Given the description of an element on the screen output the (x, y) to click on. 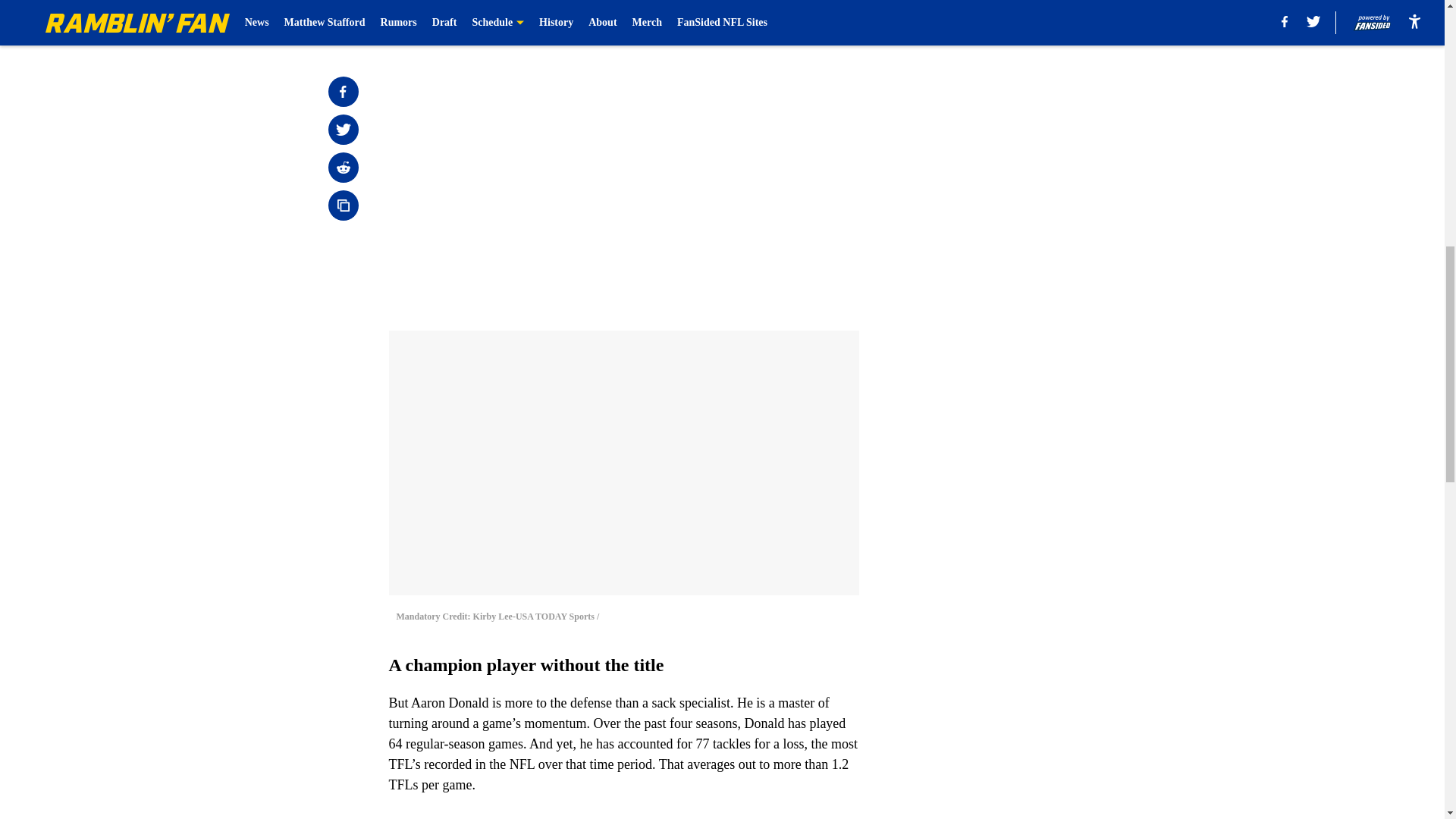
Prev (433, 20)
Next (813, 20)
